Given the description of an element on the screen output the (x, y) to click on. 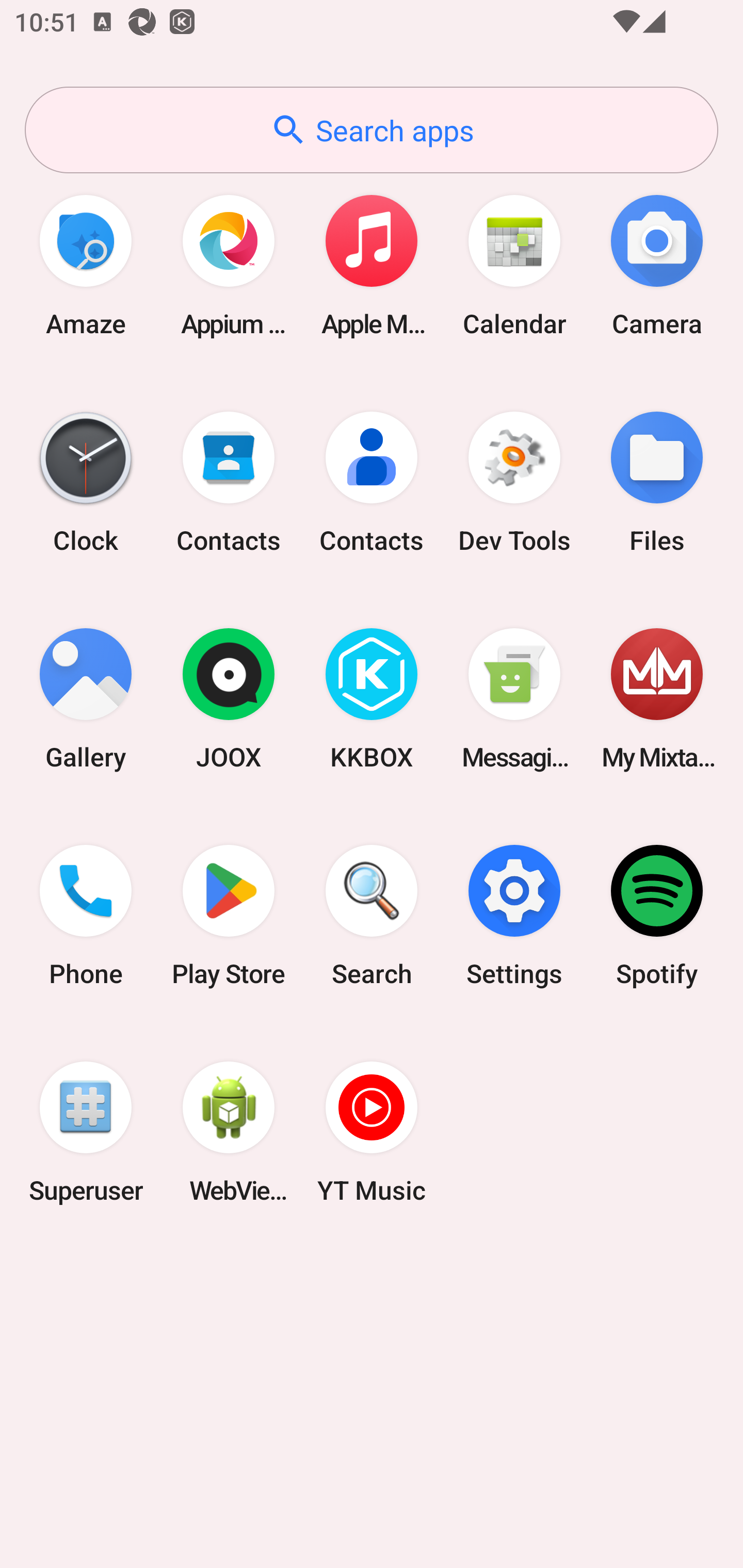
  Search apps (371, 130)
Amaze (85, 264)
Appium Settings (228, 264)
Apple Music (371, 264)
Calendar (514, 264)
Camera (656, 264)
Clock (85, 482)
Contacts (228, 482)
Contacts (371, 482)
Dev Tools (514, 482)
Files (656, 482)
Gallery (85, 699)
JOOX (228, 699)
KKBOX (371, 699)
Messaging (514, 699)
My Mixtapez (656, 699)
Phone (85, 915)
Play Store (228, 915)
Search (371, 915)
Settings (514, 915)
Spotify (656, 915)
Superuser (85, 1131)
WebView Browser Tester (228, 1131)
YT Music (371, 1131)
